Given the description of an element on the screen output the (x, y) to click on. 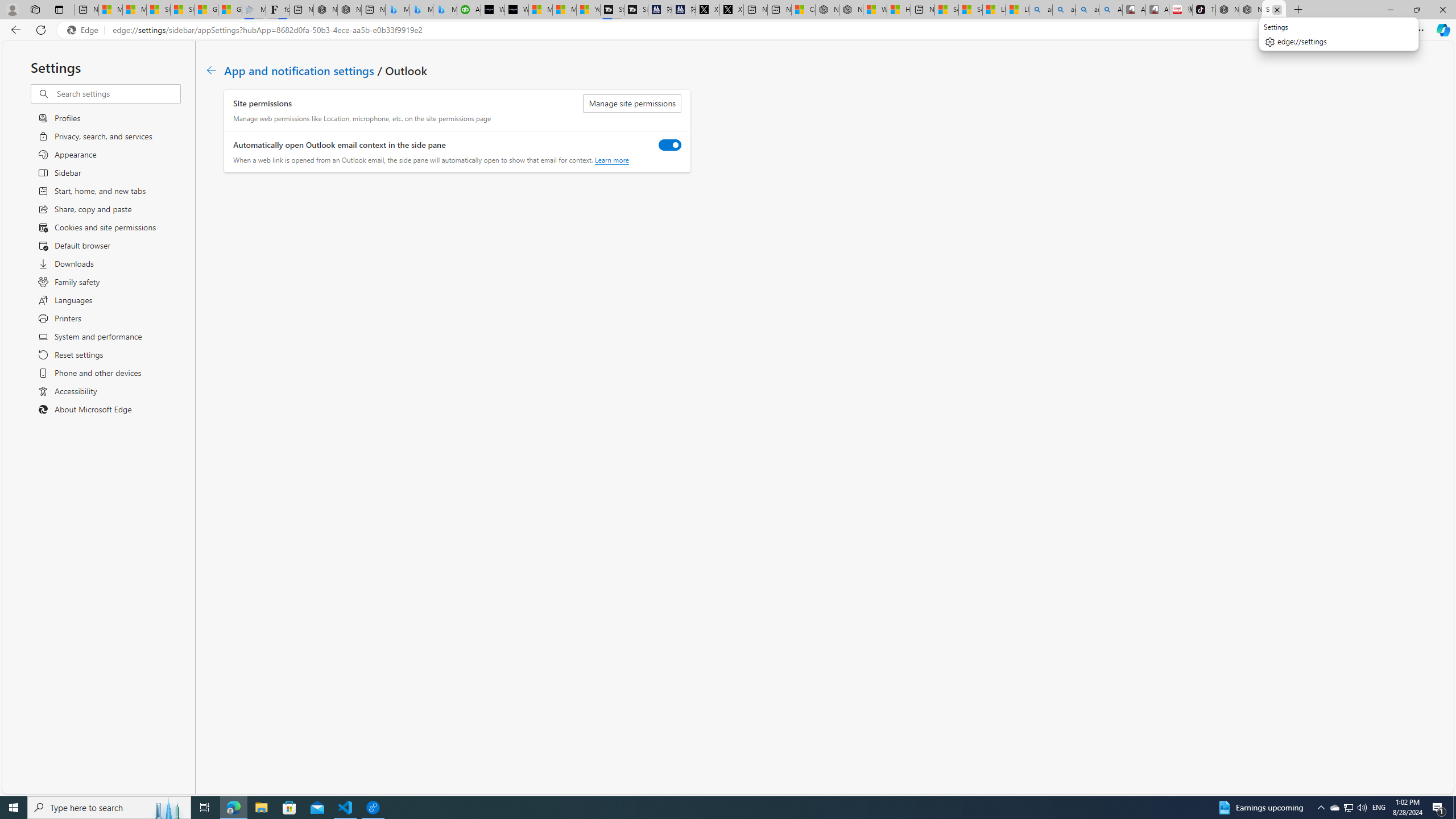
App and notification settings (299, 69)
Learn more (611, 159)
Nordace Siena Pro 15 Backpack (1250, 9)
Microsoft Bing Travel - Stays in Bangkok, Bangkok, Thailand (421, 9)
Amazon Echo Robot - Search Images (1110, 9)
